Given the description of an element on the screen output the (x, y) to click on. 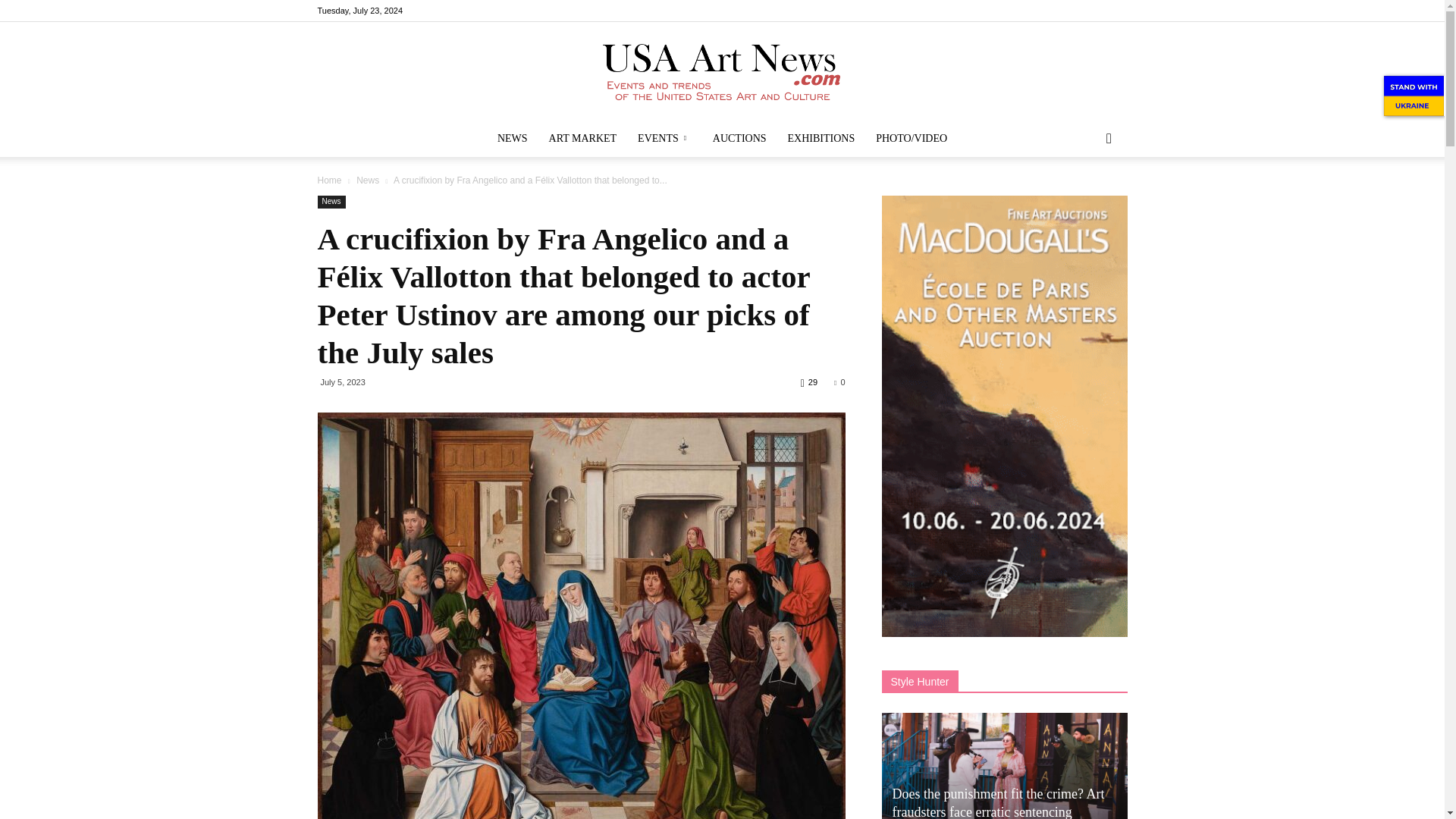
RSS (1090, 10)
NEWS (512, 138)
Instagram (1065, 10)
ART MARKET (582, 138)
EVENTS (664, 138)
Twitter (1114, 10)
Facebook (1040, 10)
